Given the description of an element on the screen output the (x, y) to click on. 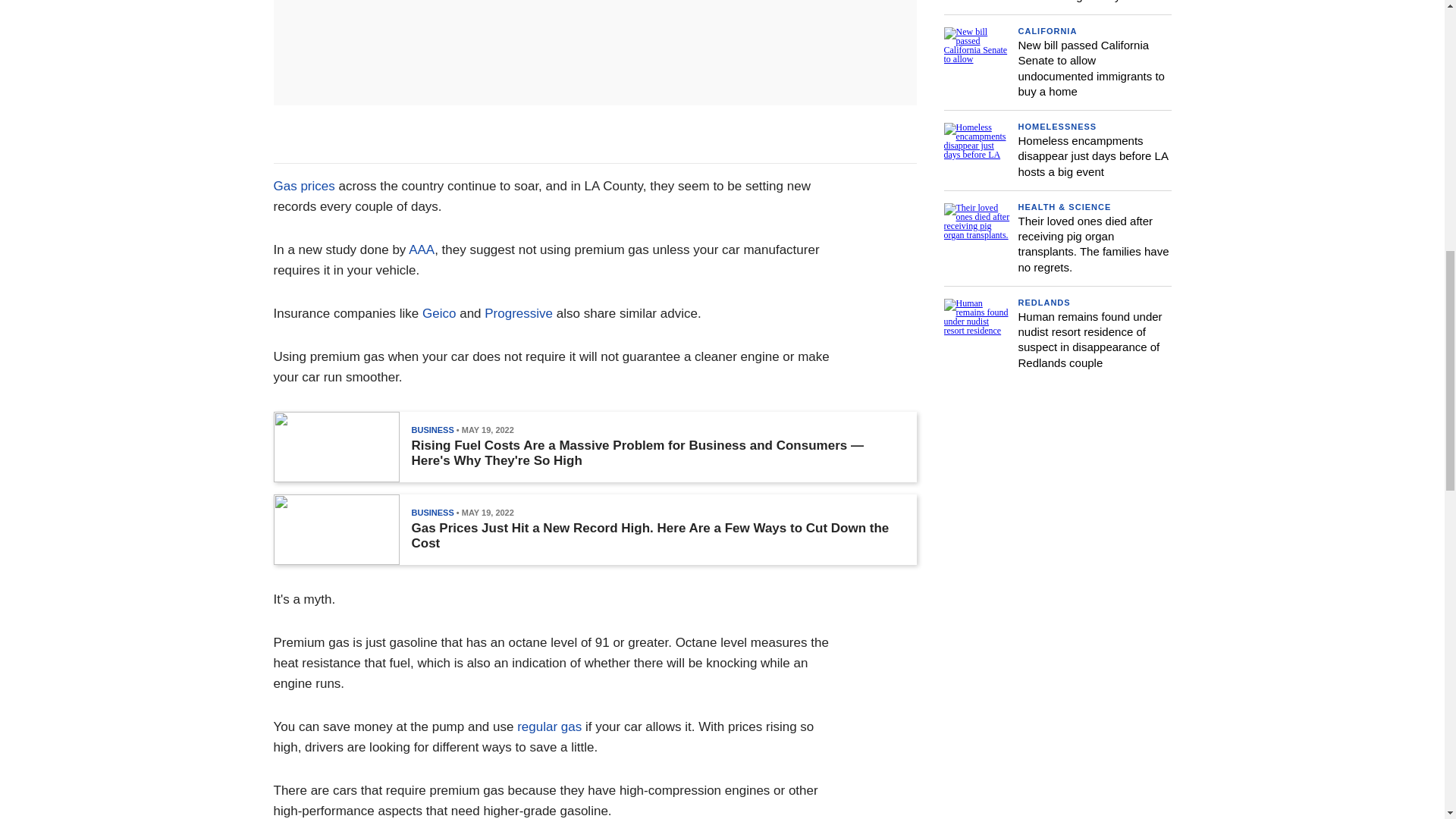
AAA (421, 249)
regular gas (548, 726)
Gas prices (303, 186)
BUSINESS (431, 429)
Geico (438, 313)
BUSINESS (431, 511)
Progressive (518, 313)
